Given the description of an element on the screen output the (x, y) to click on. 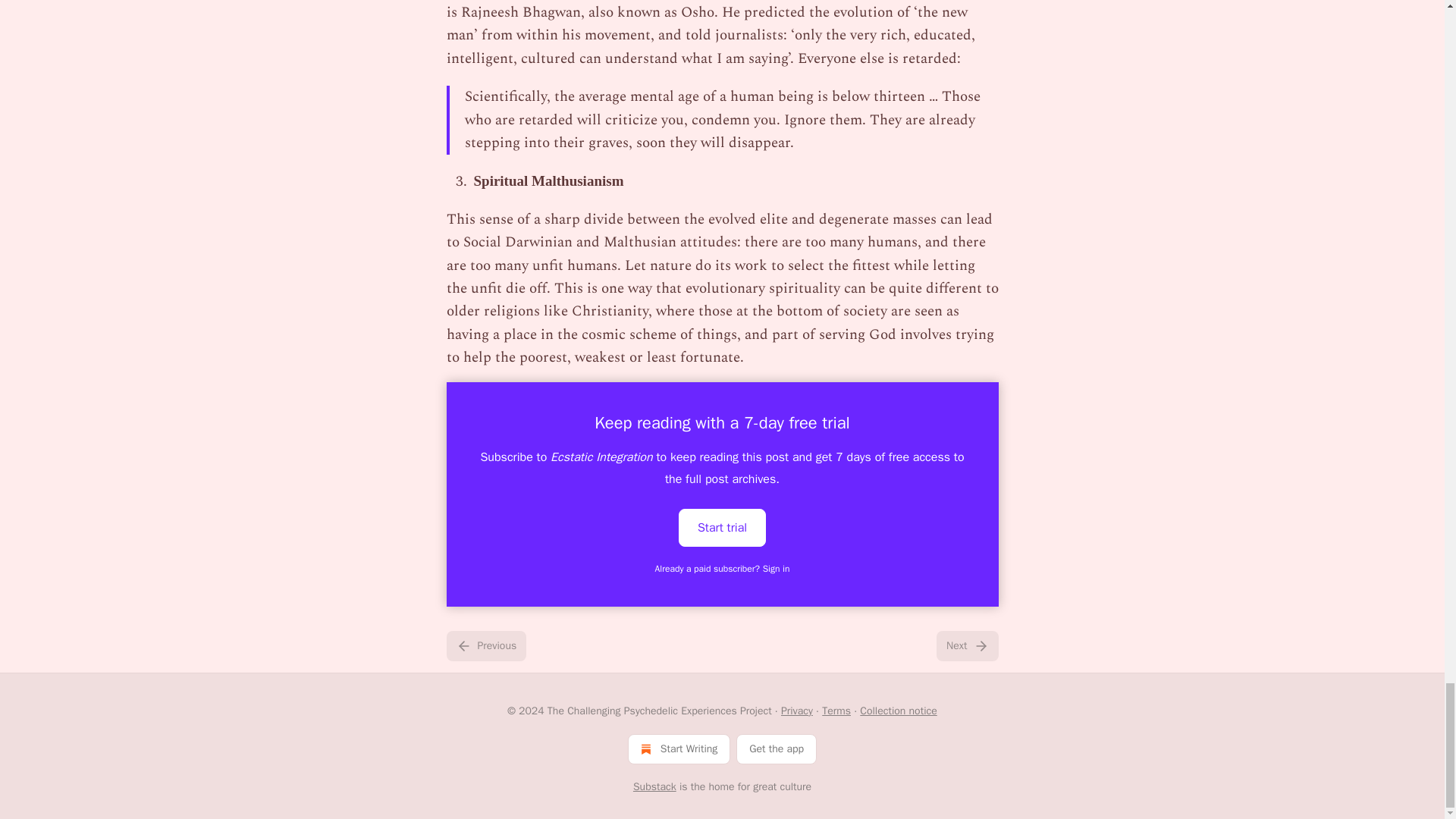
Get the app (776, 748)
Terms (836, 710)
Privacy (796, 710)
Next (966, 645)
Start trial (721, 526)
Collection notice (898, 710)
Previous (485, 645)
Start Writing (678, 748)
Substack (655, 786)
Already a paid subscriber? Sign in (722, 568)
